Given the description of an element on the screen output the (x, y) to click on. 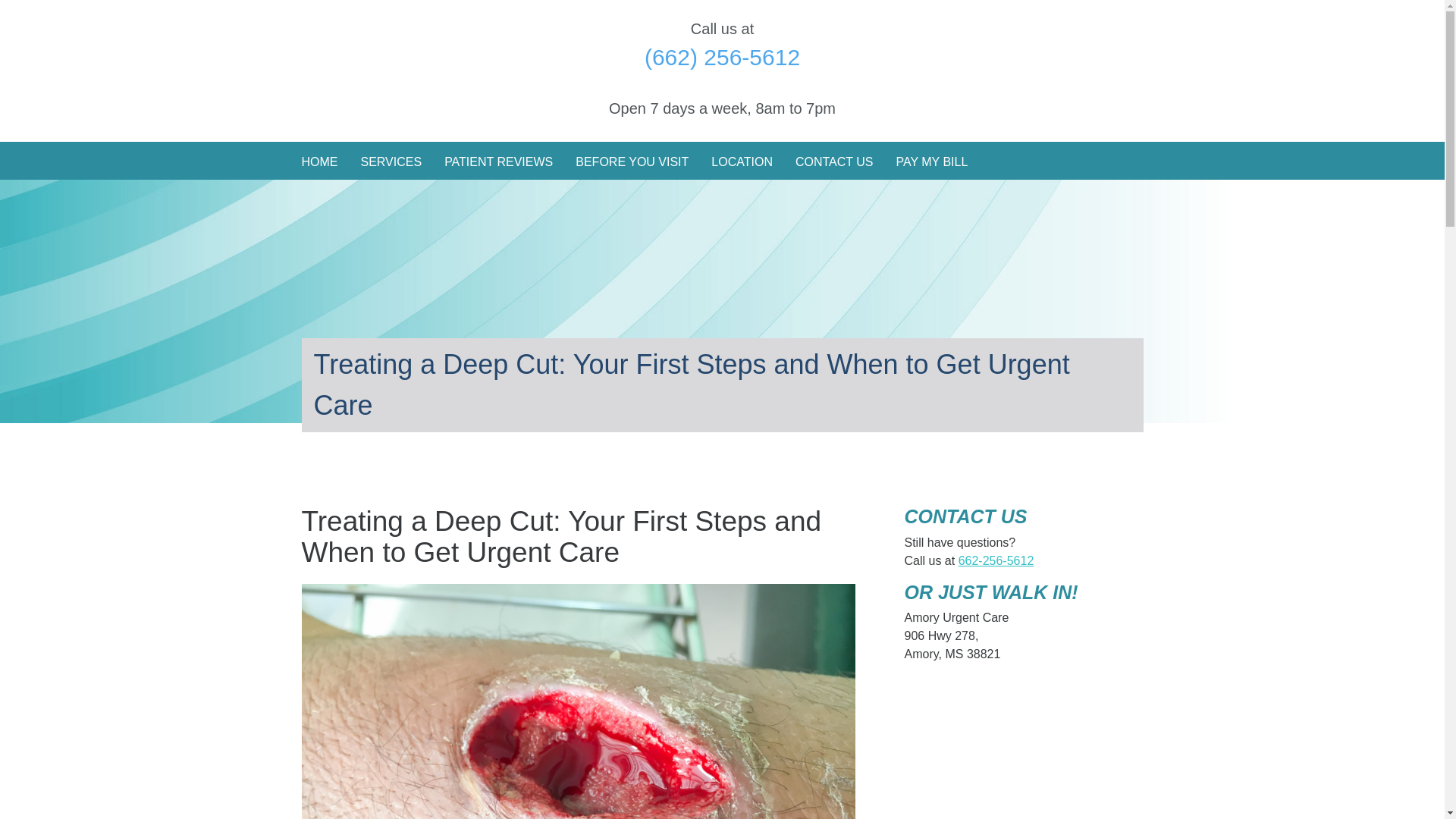
Amory Urgent Care Logo (402, 59)
PAY MY BILL (930, 161)
662-256-5612 (995, 560)
SERVICES (390, 161)
PATIENT REVIEWS (498, 161)
BEFORE YOU VISIT (632, 161)
LOCATION (742, 161)
HOME (319, 161)
CONTACT US (834, 161)
